Given the description of an element on the screen output the (x, y) to click on. 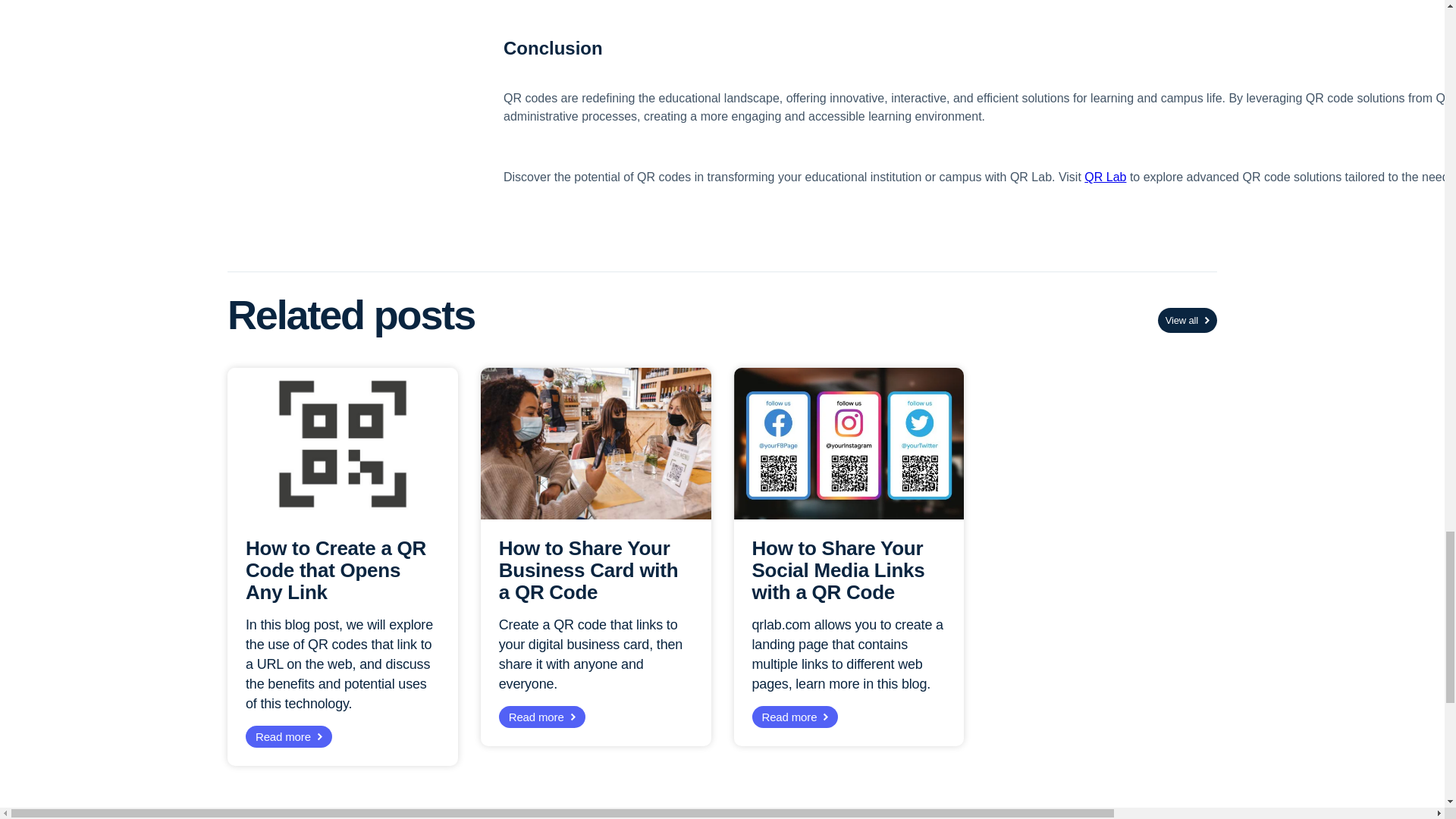
QR Lab (1104, 176)
